Given the description of an element on the screen output the (x, y) to click on. 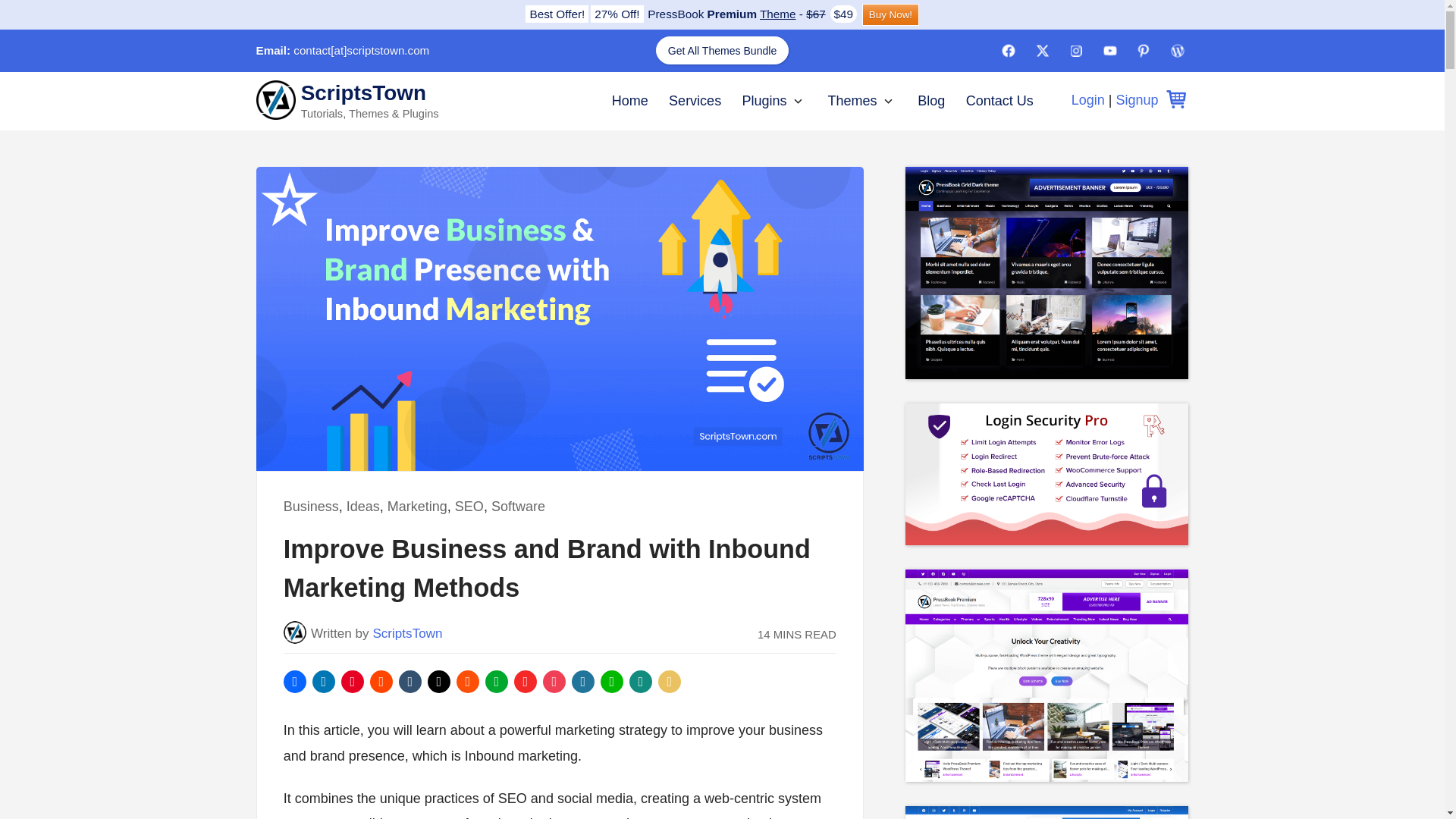
Themes (851, 100)
Themes (851, 100)
ScriptsTown (407, 633)
Services (694, 100)
Contact Us (999, 100)
Blog (930, 100)
Marketing (416, 506)
Home (629, 100)
Buy Now! (889, 14)
